Given the description of an element on the screen output the (x, y) to click on. 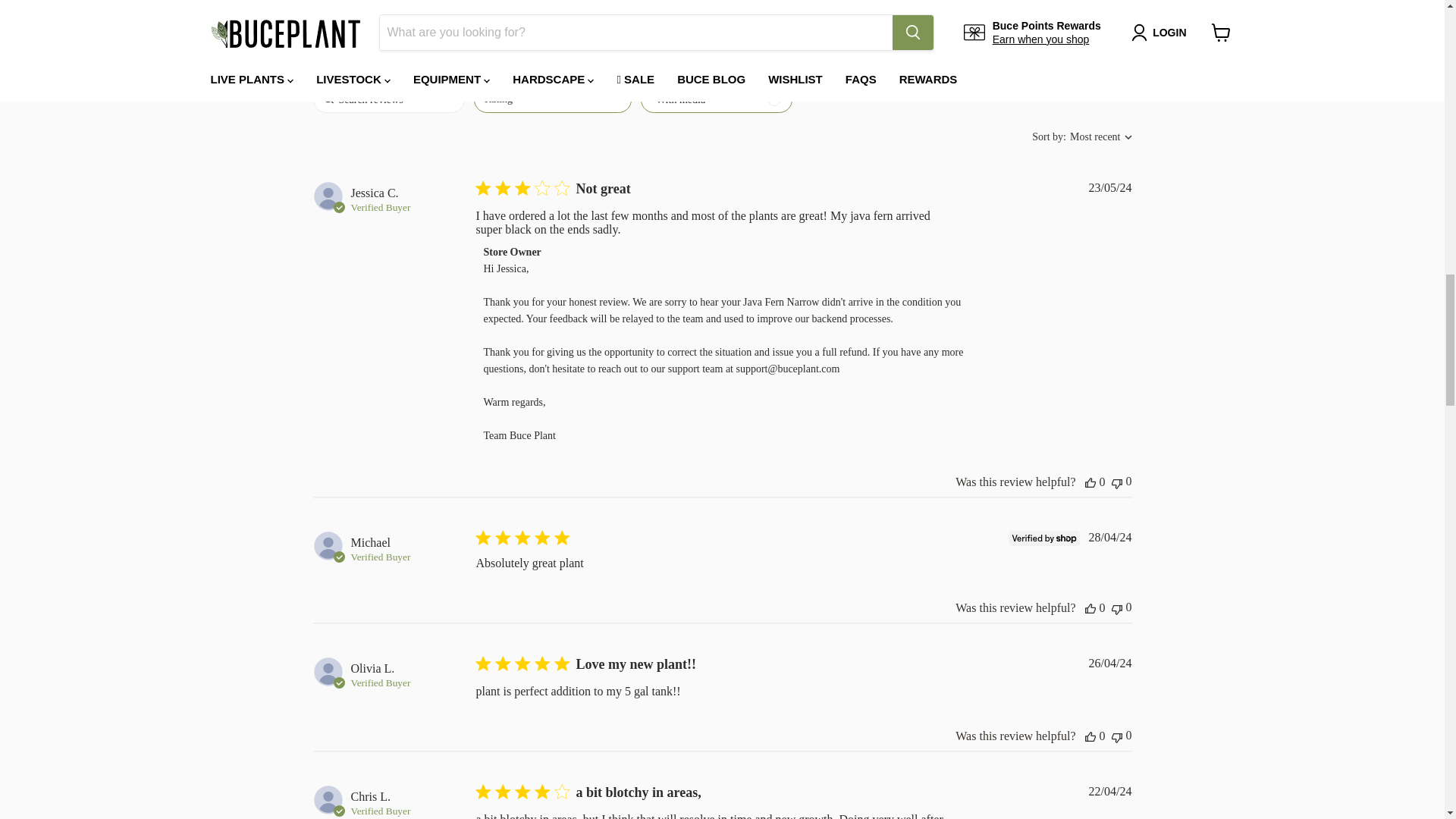
Jessica C. (373, 192)
Chris L. (370, 796)
Olivia L. (372, 668)
Michael (370, 542)
